Given the description of an element on the screen output the (x, y) to click on. 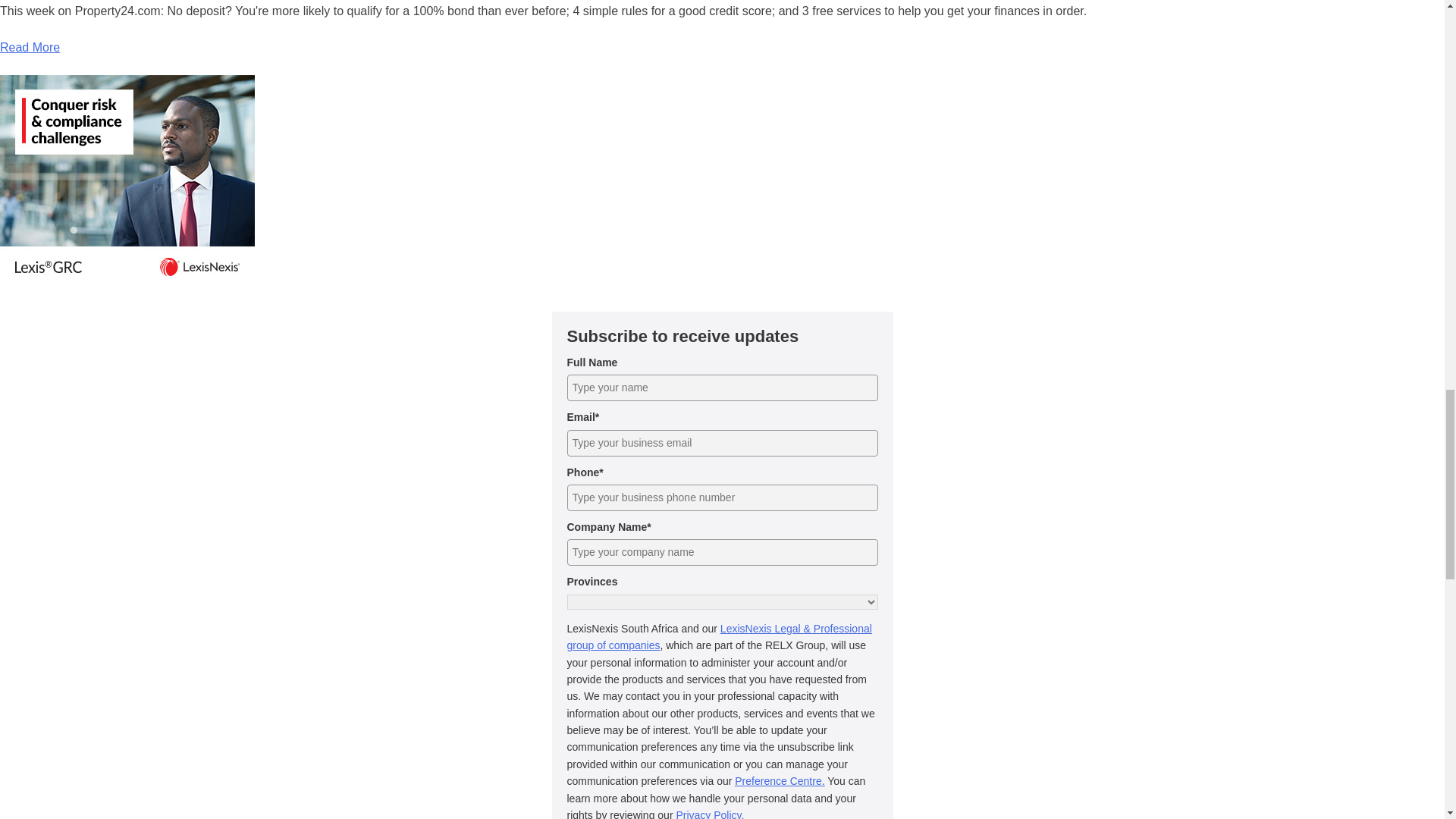
Privacy Policy. (709, 814)
Read More (29, 47)
Preference Centre. (779, 780)
